Given the description of an element on the screen output the (x, y) to click on. 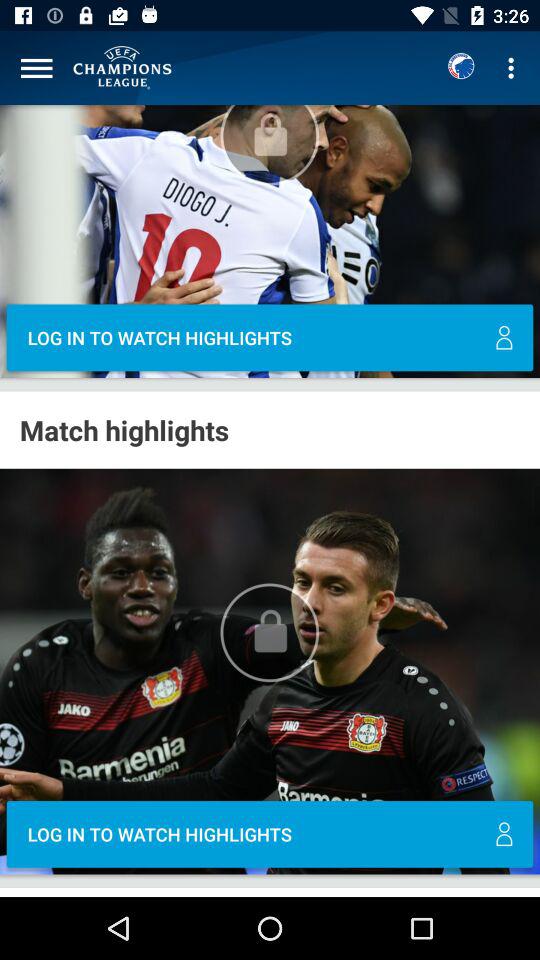
access settings (36, 68)
